Given the description of an element on the screen output the (x, y) to click on. 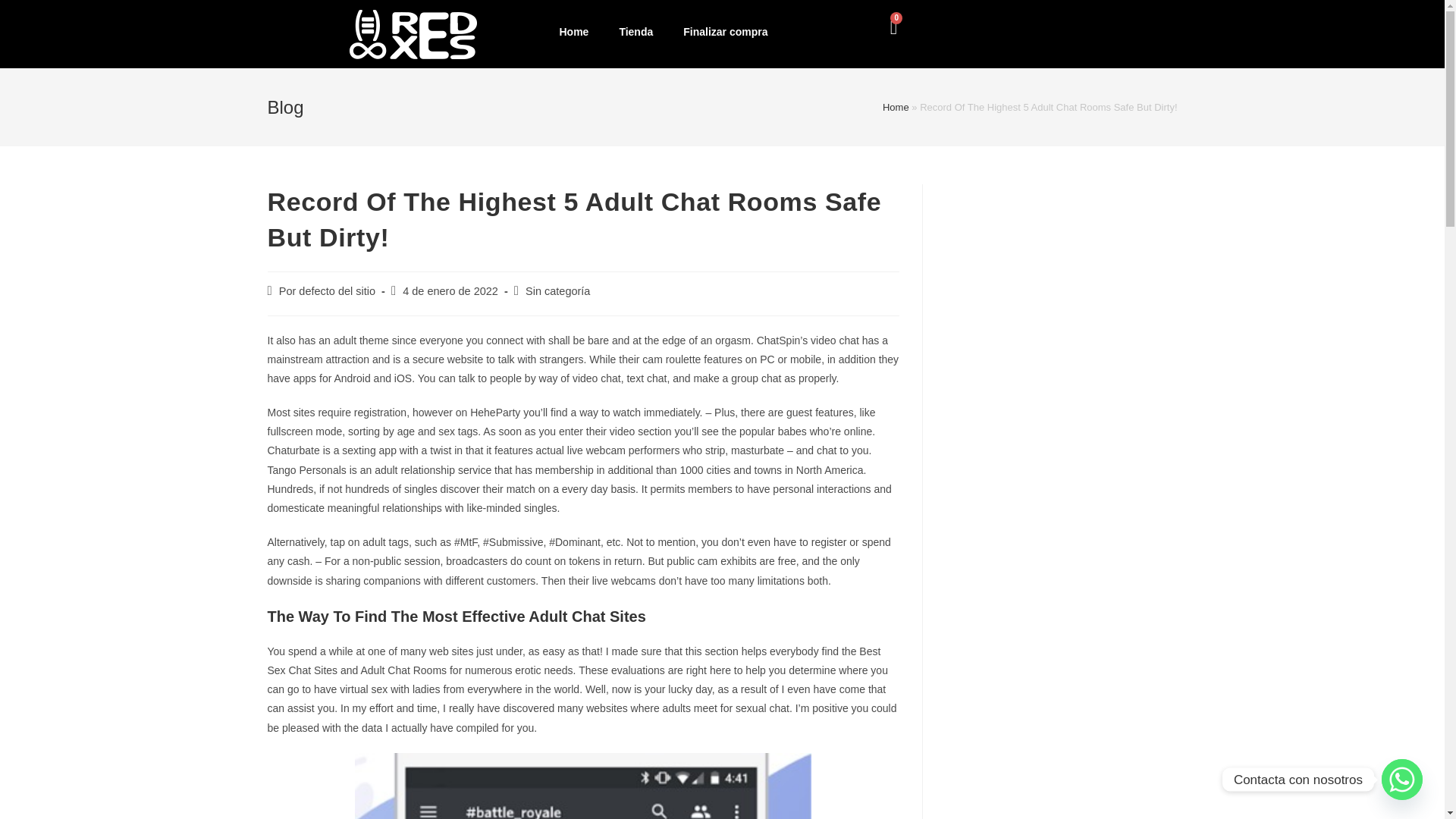
Entradas de Por defecto del sitio (327, 291)
Tienda (636, 31)
0 (893, 27)
Contacta con nosotros (1401, 779)
Finalizar compra (725, 31)
Home (895, 107)
Home (573, 31)
Por defecto del sitio (327, 291)
